Given the description of an element on the screen output the (x, y) to click on. 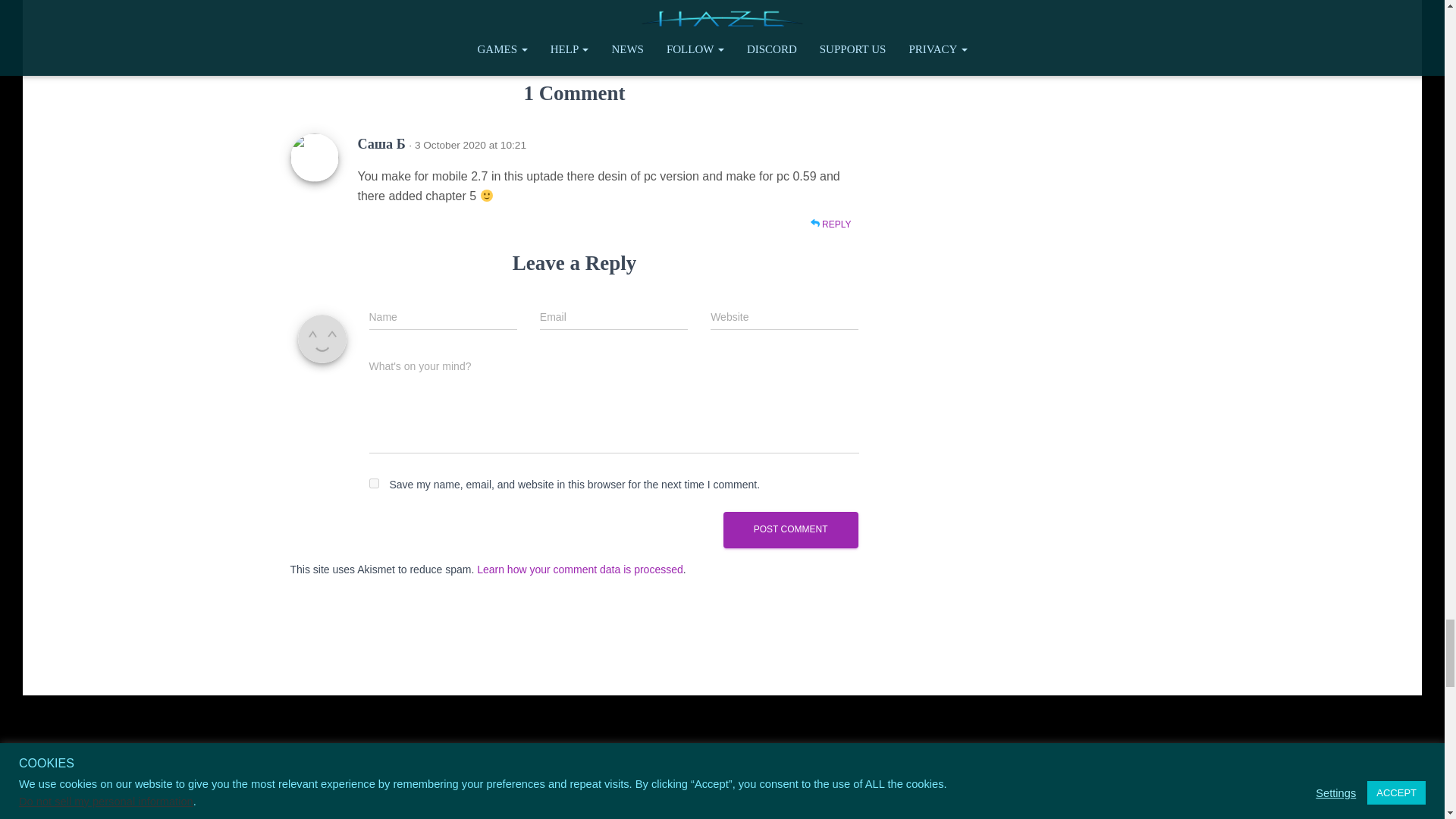
yes (373, 483)
Post Comment (791, 529)
